Given the description of an element on the screen output the (x, y) to click on. 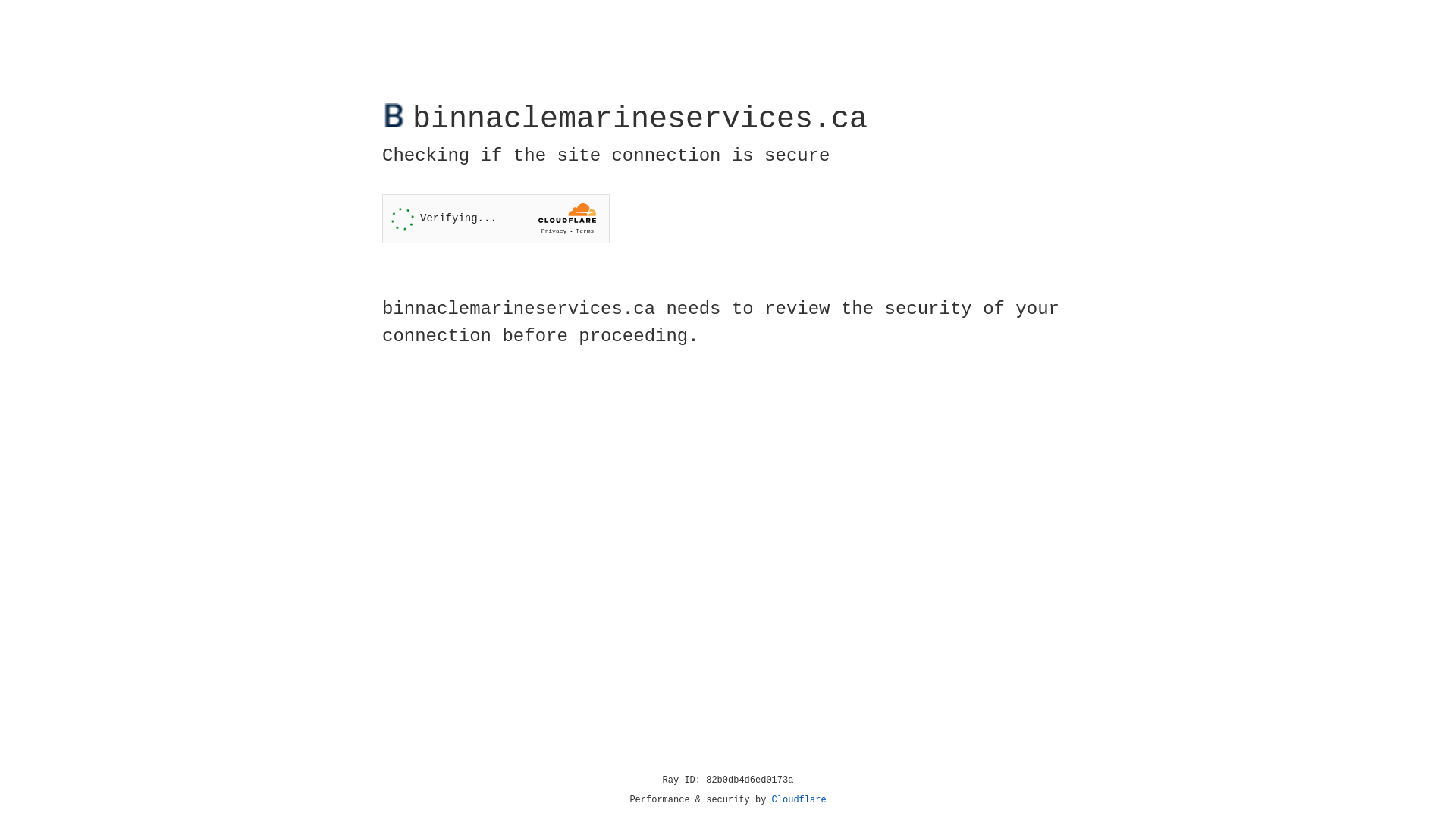
Widget containing a Cloudflare security challenge Element type: hover (495, 218)
Cloudflare Element type: text (798, 799)
